Given the description of an element on the screen output the (x, y) to click on. 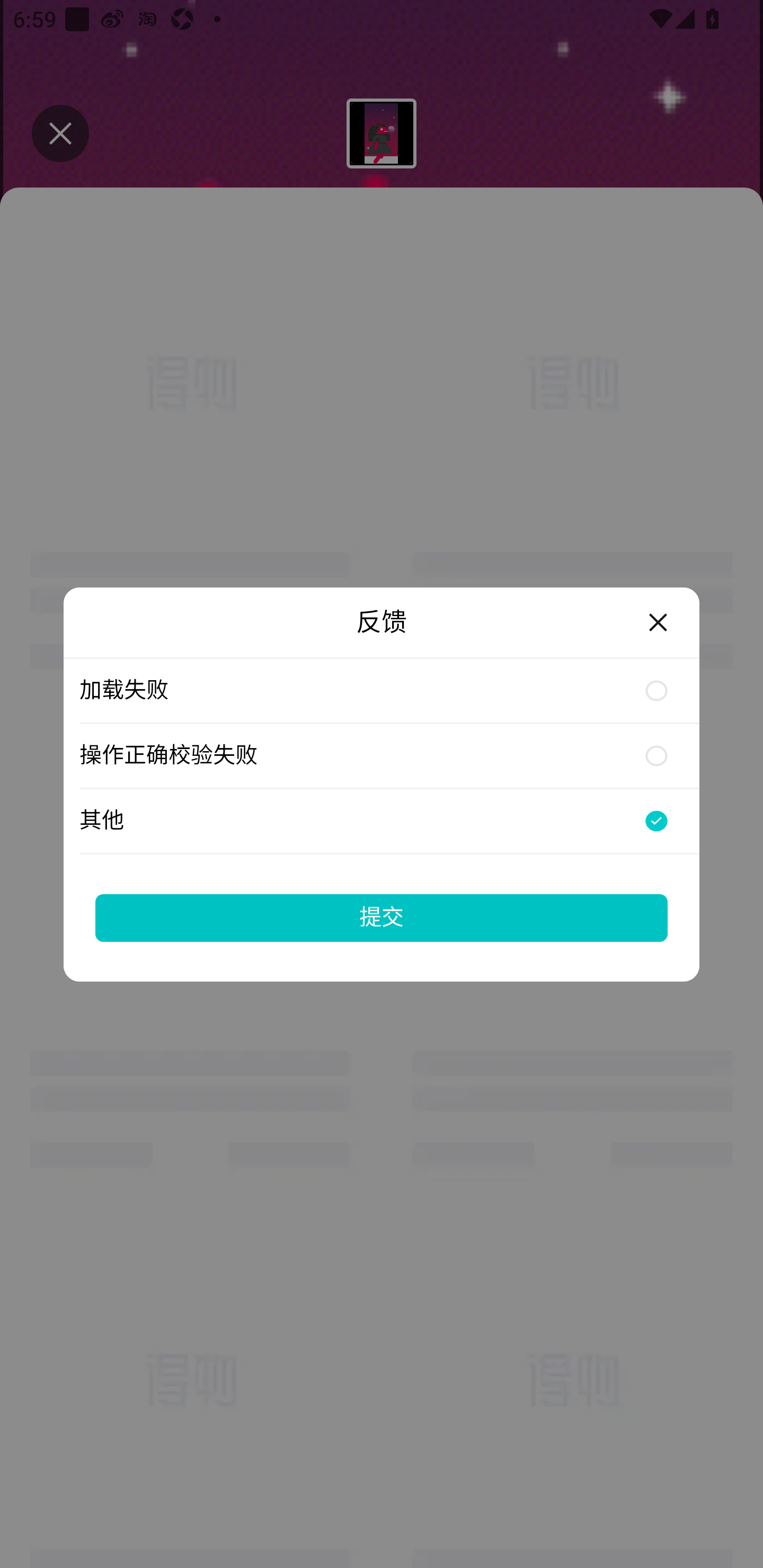
提交 (381, 917)
